Given the description of an element on the screen output the (x, y) to click on. 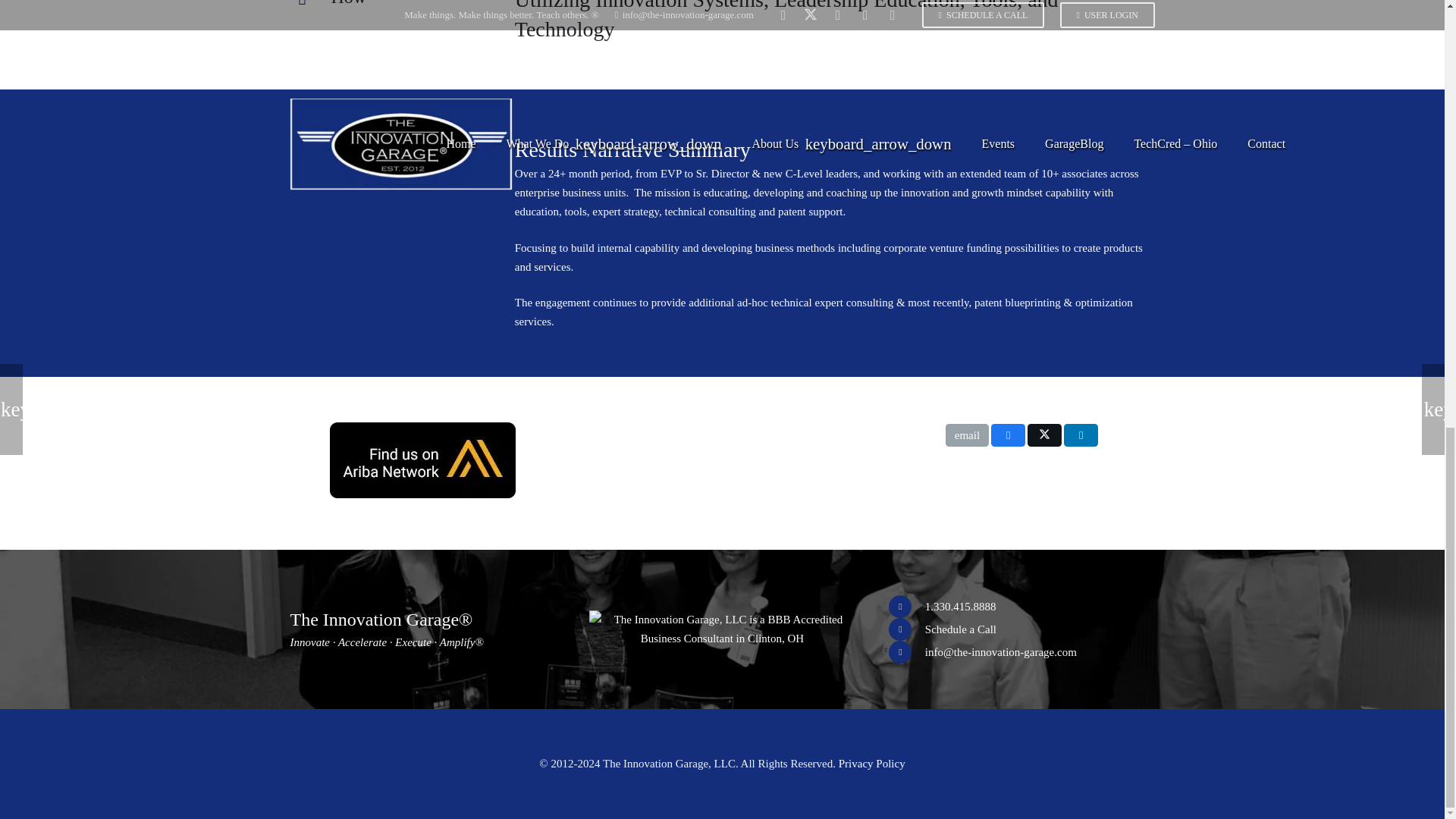
1.330.415.8888 (906, 606)
Email this (966, 435)
Share this (1080, 435)
Tweet this (1044, 435)
Share this (1008, 435)
Schedule a phone call (959, 629)
1.330.415.8888 (959, 606)
Schedule a phone call (906, 629)
